Given the description of an element on the screen output the (x, y) to click on. 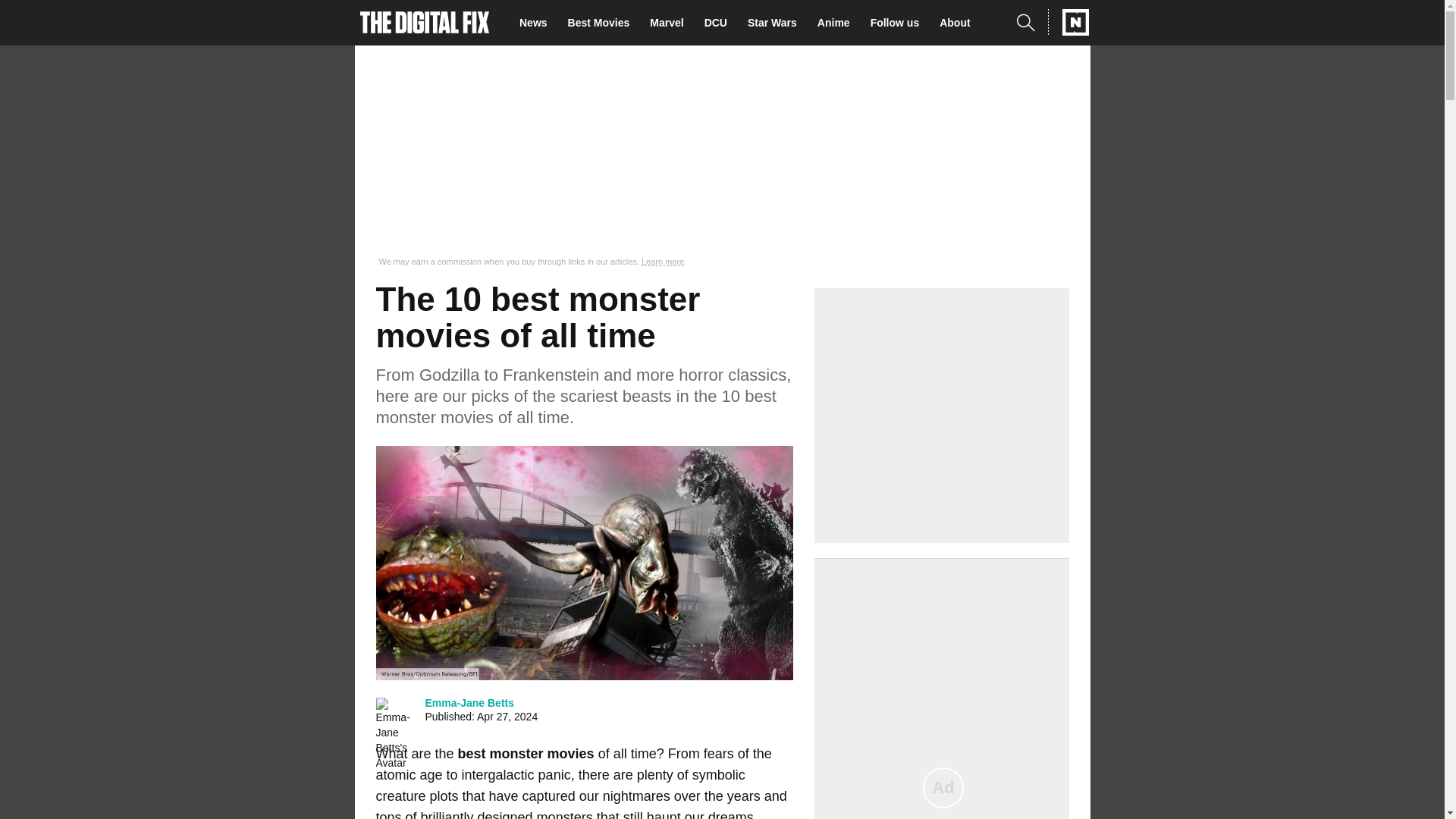
Network N Media (1068, 22)
News (537, 22)
TV and Movie News (537, 22)
Anime (837, 22)
Learn more (663, 261)
The Digital Fix (424, 22)
Star Wars News (777, 22)
Star Wars (777, 22)
Follow us (899, 22)
DC Comics Universe News (720, 22)
Best Movies (603, 22)
DCU (720, 22)
Marvel (671, 22)
Marvel Cinematic Universe News (671, 22)
Emma-Jane Betts (469, 702)
